Given the description of an element on the screen output the (x, y) to click on. 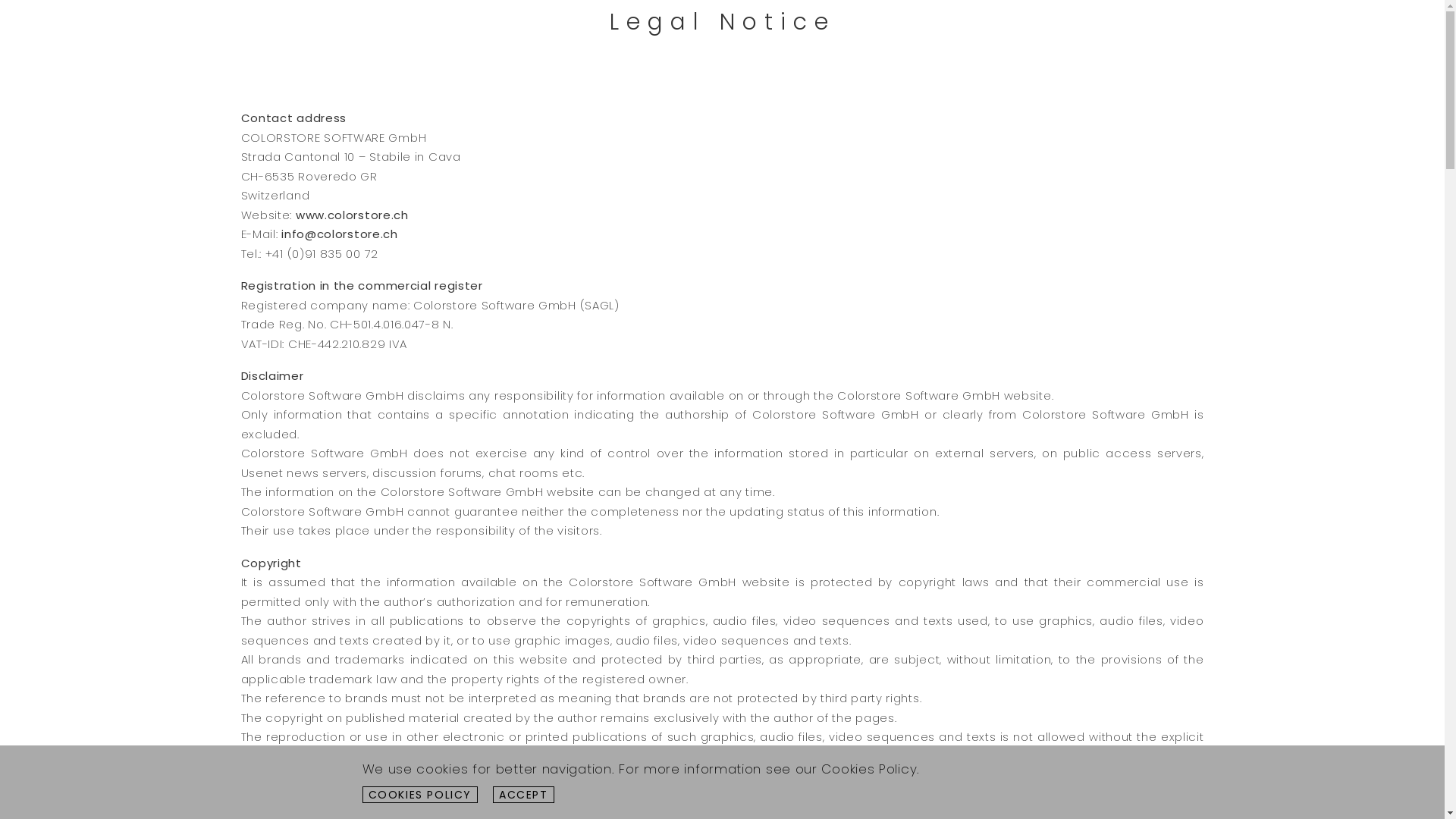
www.colorstore.ch Element type: text (351, 214)
COOKIES POLICY Element type: text (420, 794)
ACCEPT Element type: text (523, 794)
info@colorstore.ch Element type: text (339, 233)
